Given the description of an element on the screen output the (x, y) to click on. 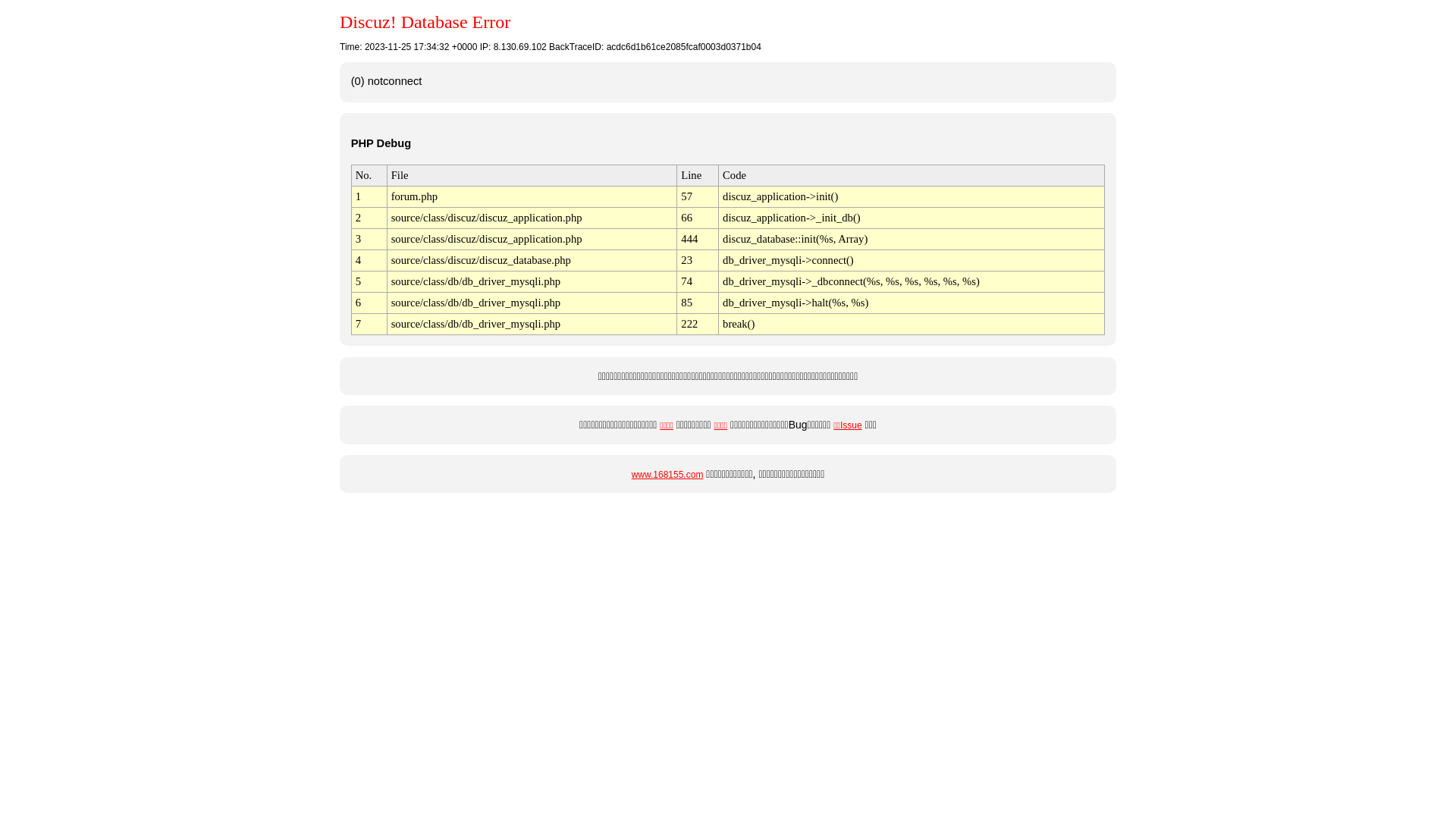
www.168155.com Element type: text (667, 474)
